Given the description of an element on the screen output the (x, y) to click on. 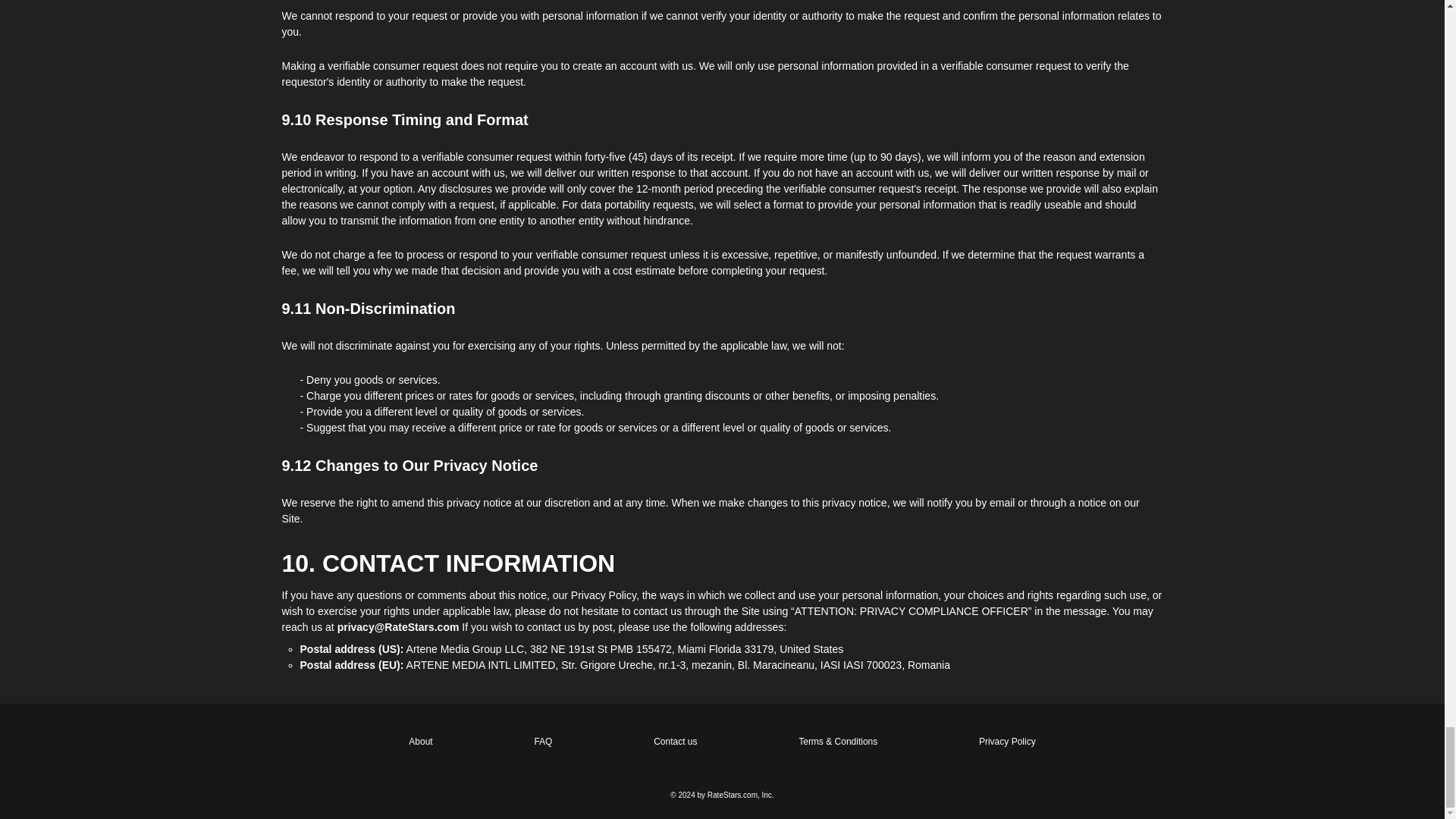
Contact us (675, 741)
About (420, 741)
FAQ (542, 741)
Privacy Policy (1006, 741)
